Given the description of an element on the screen output the (x, y) to click on. 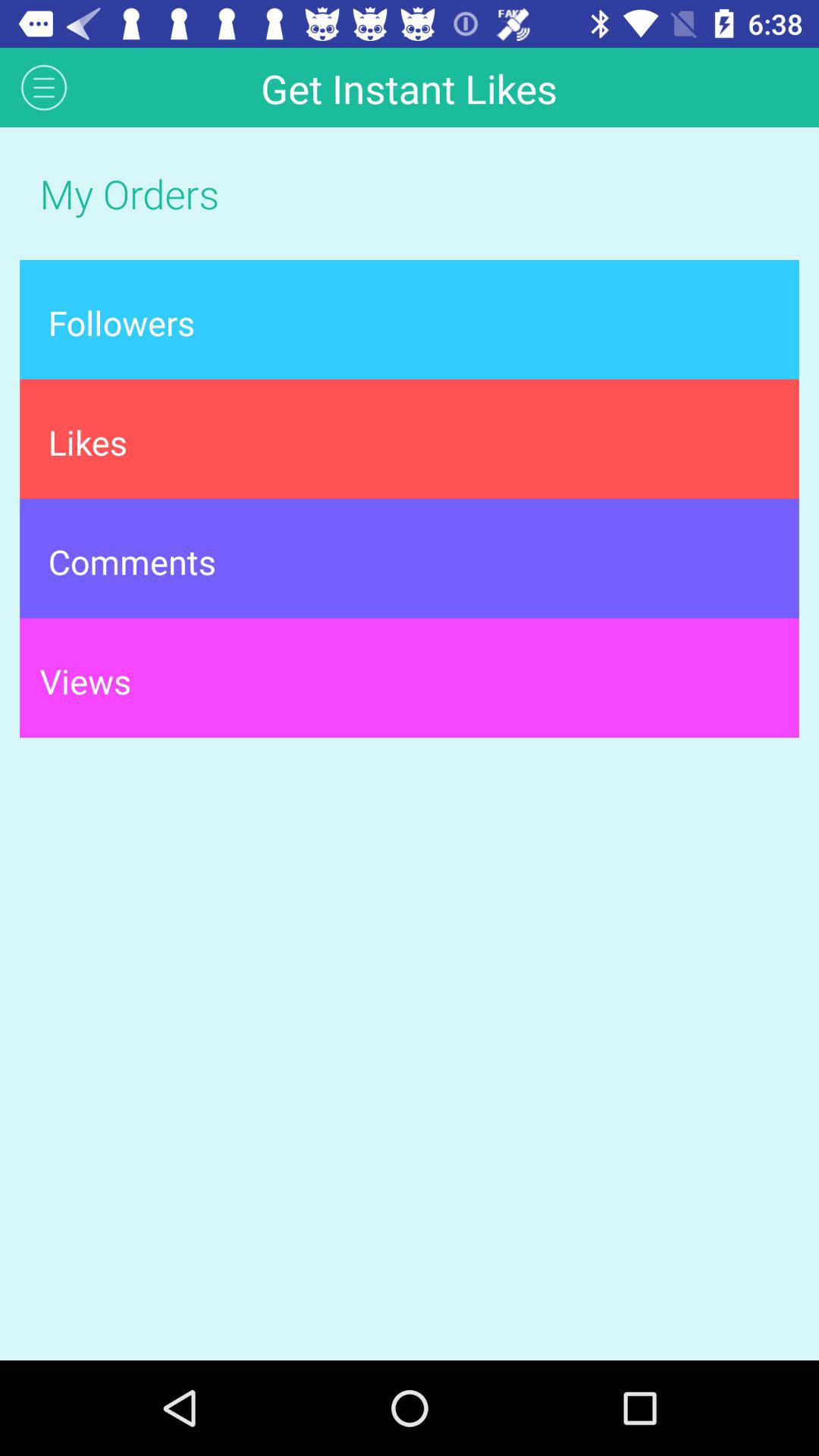
launch the  followers item (409, 319)
